Given the description of an element on the screen output the (x, y) to click on. 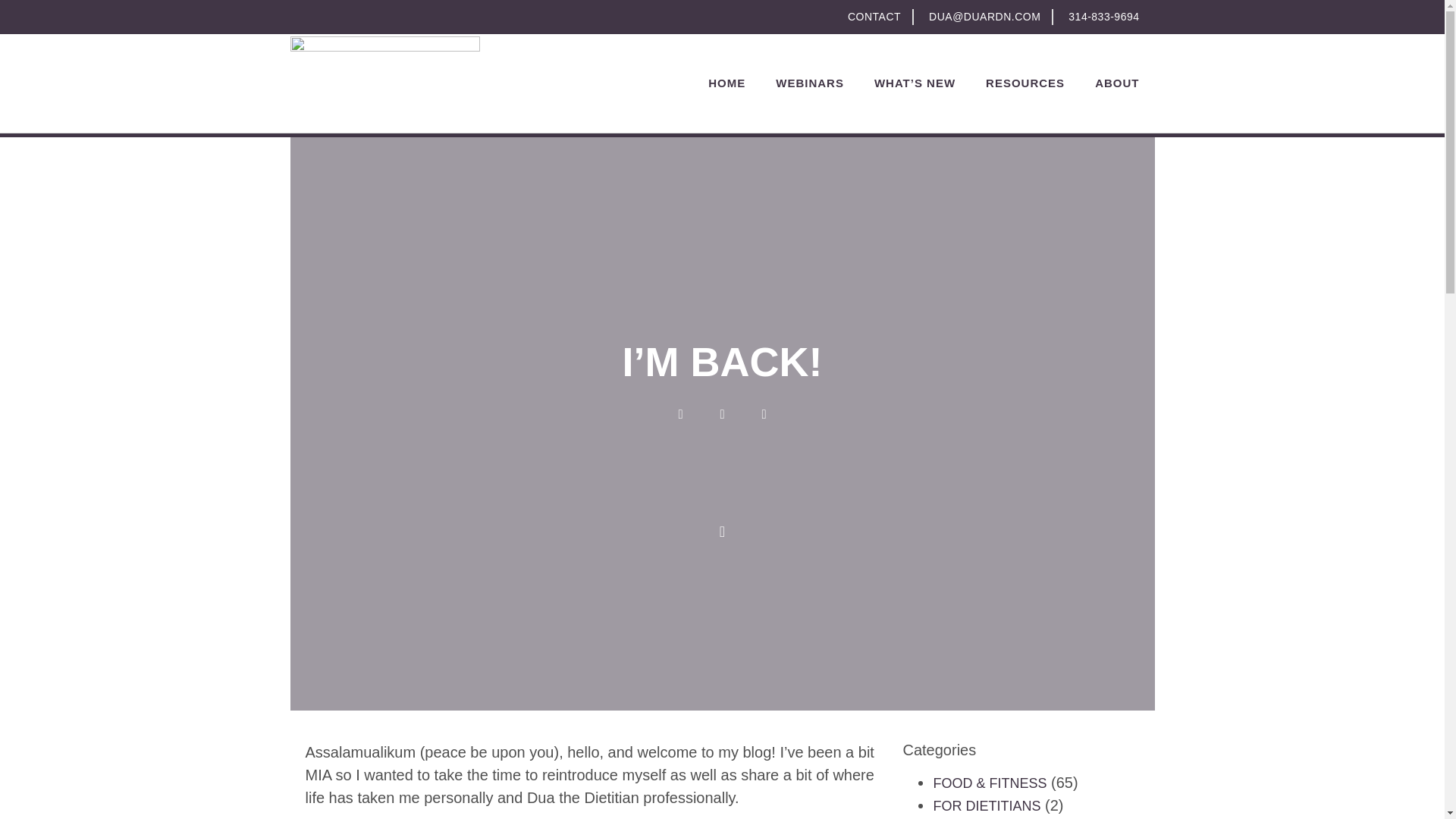
314-833-9694 (1101, 17)
CONTACT (872, 17)
RESOURCES (1025, 82)
FOR DIETITIANS (987, 806)
WEBINARS (809, 82)
